Given the description of an element on the screen output the (x, y) to click on. 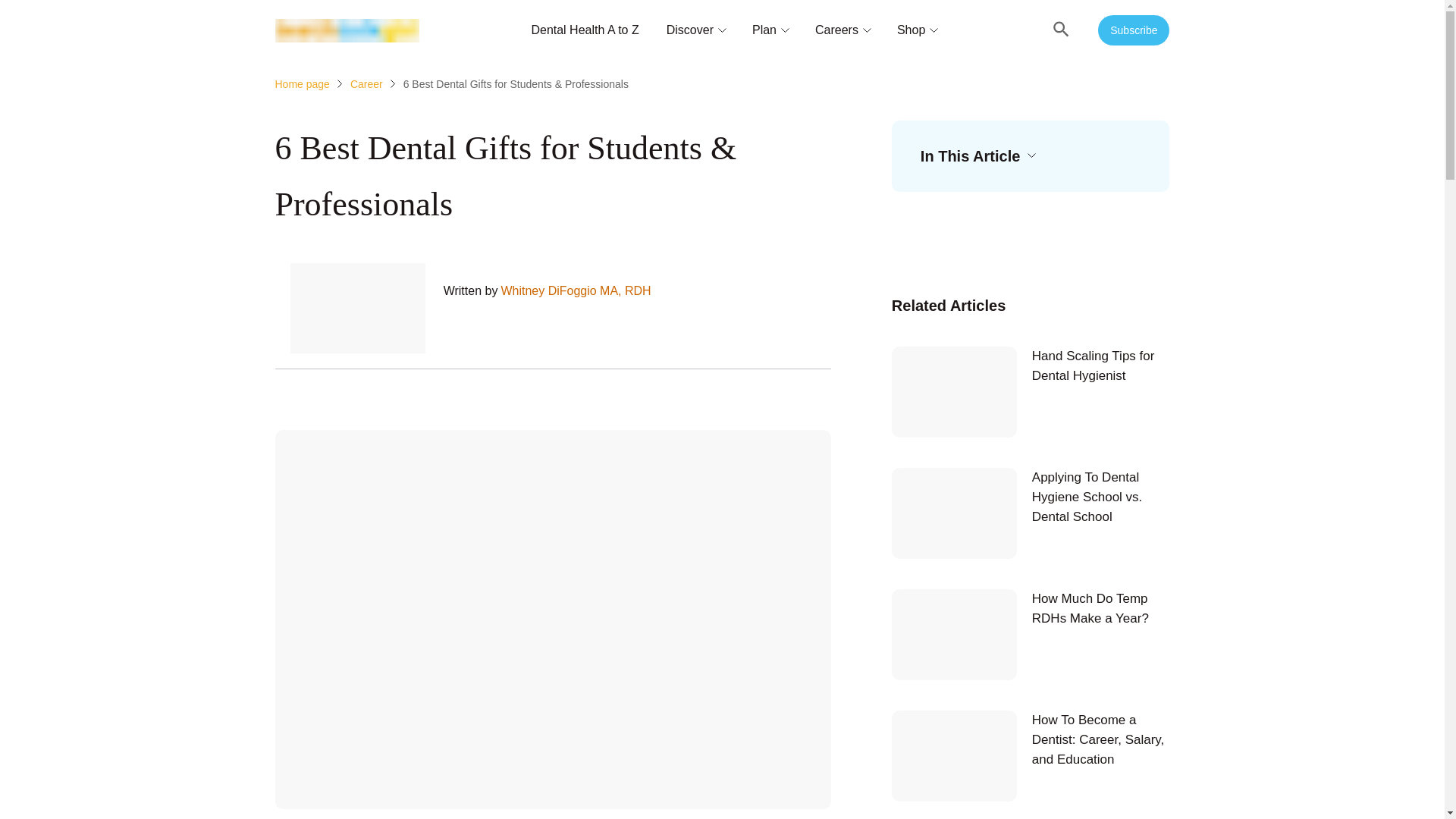
Applying To Dental Hygiene School vs. Dental School (1030, 512)
Career (366, 83)
How To Become a Dentist: Career, Salary, and Education (1030, 755)
Subscribe (1133, 30)
Hand Scaling Tips for Dental Hygienist (1030, 391)
Whitney DiFoggio MA, RDH (575, 291)
In This Article (977, 155)
Dental Health A to Z (585, 30)
How Much Do Temp RDHs Make a Year? (1030, 634)
Home page (302, 83)
